Given the description of an element on the screen output the (x, y) to click on. 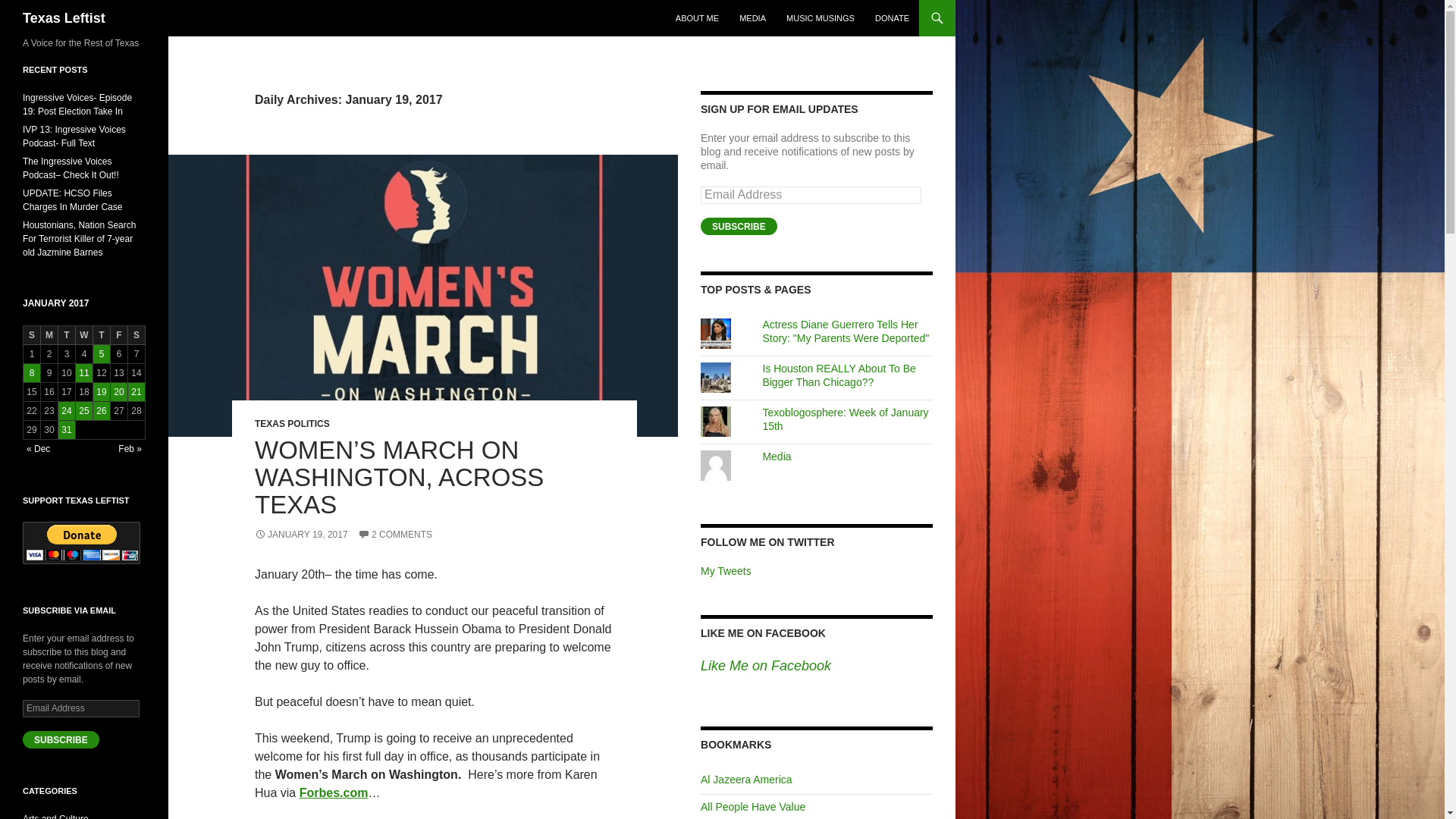
JANUARY 19, 2017 (300, 534)
Is Houston REALLY About To Be Bigger Than Chicago?? (838, 375)
Media (775, 456)
Forbes.com (333, 792)
Texoblogosphere:  Week of January 15th (844, 419)
DONATE (892, 18)
MEDIA (752, 18)
2 COMMENTS (395, 534)
TEXAS POLITICS (292, 423)
Texas Leftist (63, 18)
ABOUT ME (697, 18)
MUSIC MUSINGS (820, 18)
